Given the description of an element on the screen output the (x, y) to click on. 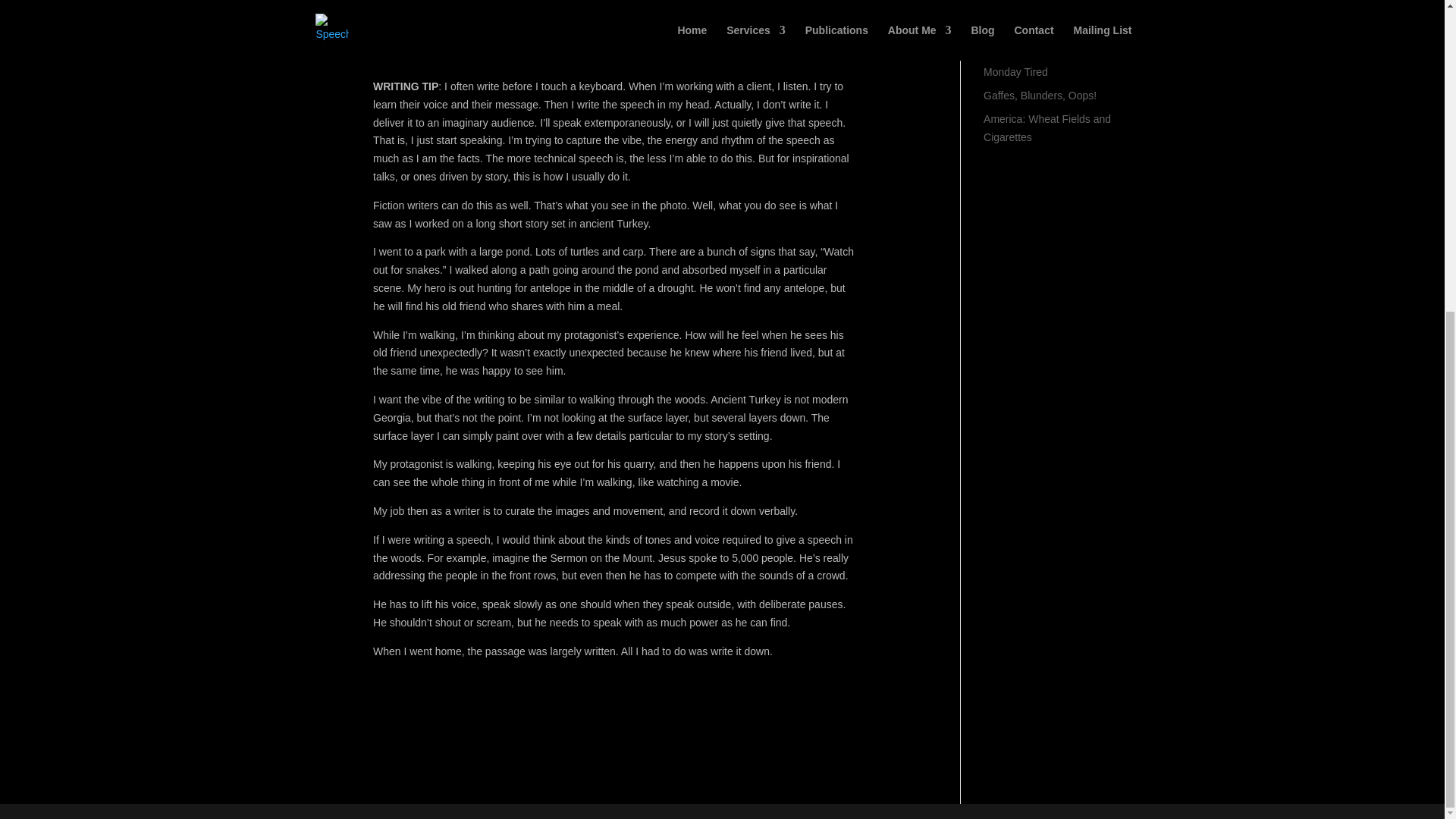
Monday Tired (1016, 71)
Peekaboo: Professional Speaker (1040, 16)
America: Wheat Fields and Cigarettes (1047, 128)
Gaffes, Blunders, Oops! (1040, 95)
Job Interview Training (1035, 48)
